Given the description of an element on the screen output the (x, y) to click on. 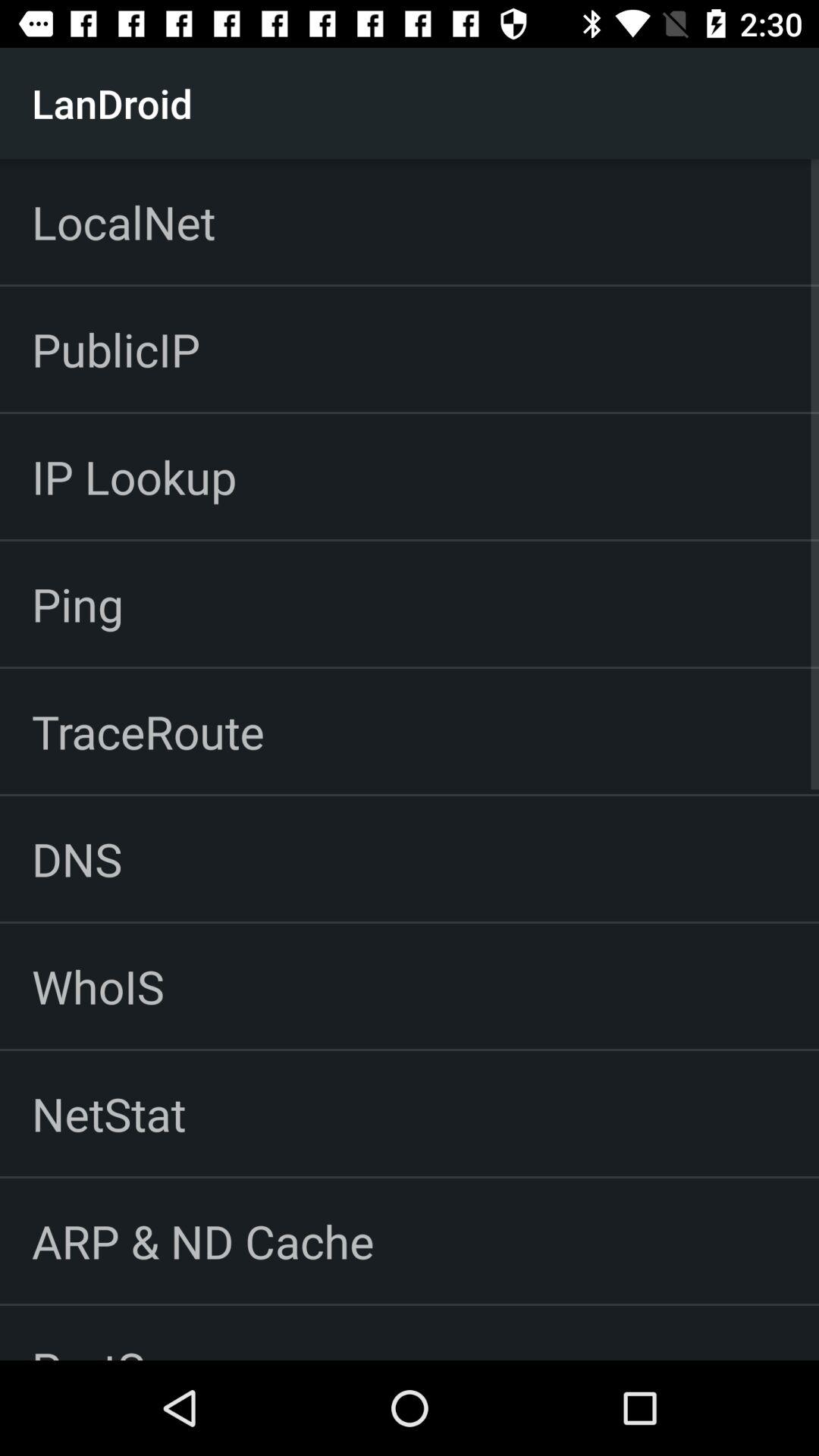
open the publicip icon (116, 348)
